Given the description of an element on the screen output the (x, y) to click on. 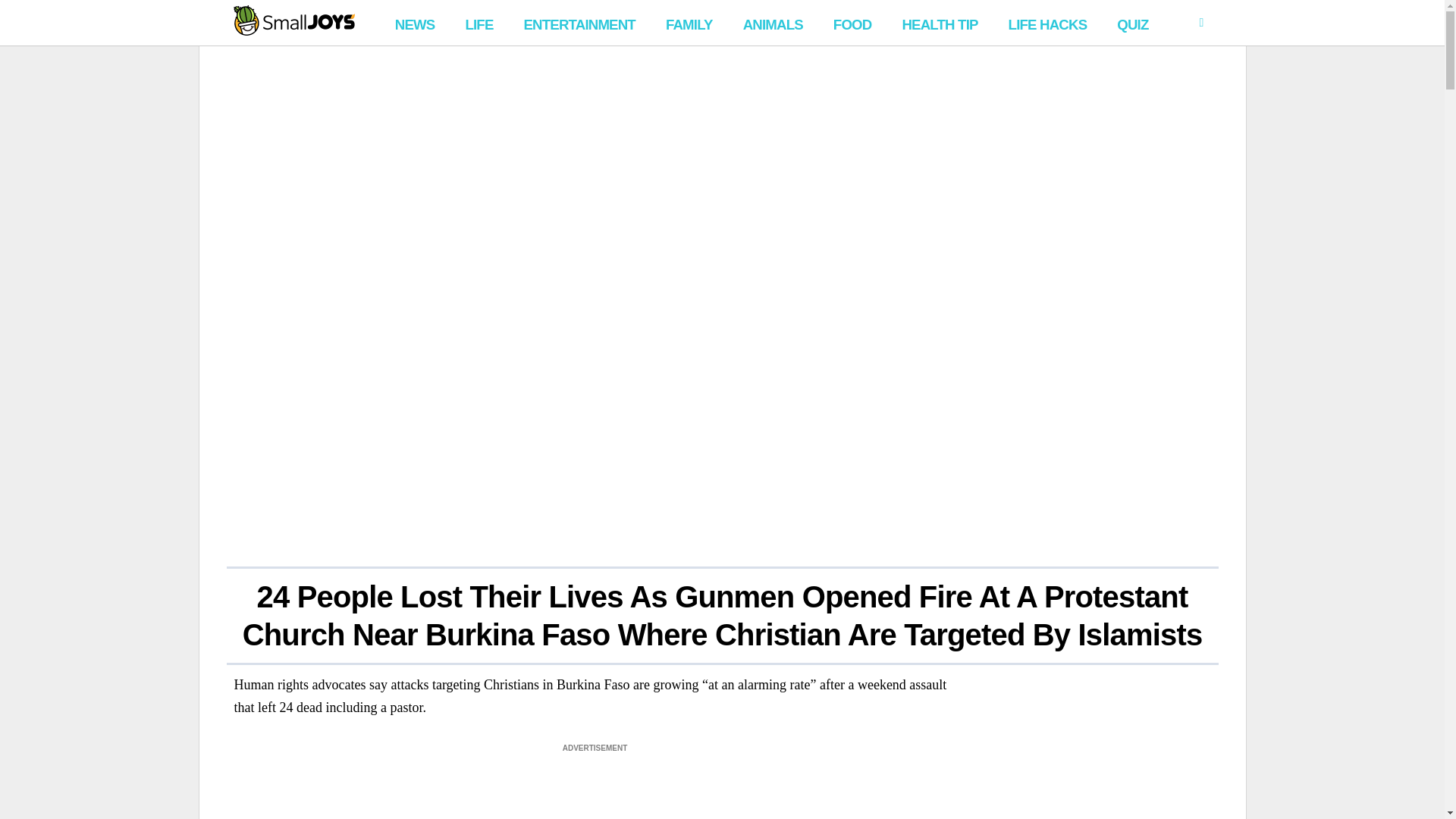
NEWS (414, 22)
QUIZ (1132, 22)
ANIMALS (772, 22)
LIFE (478, 22)
ENTERTAINMENT (578, 22)
HEALTH TIP (939, 22)
LIFE HACKS (1047, 22)
FOOD (852, 22)
FAMILY (689, 22)
